Given the description of an element on the screen output the (x, y) to click on. 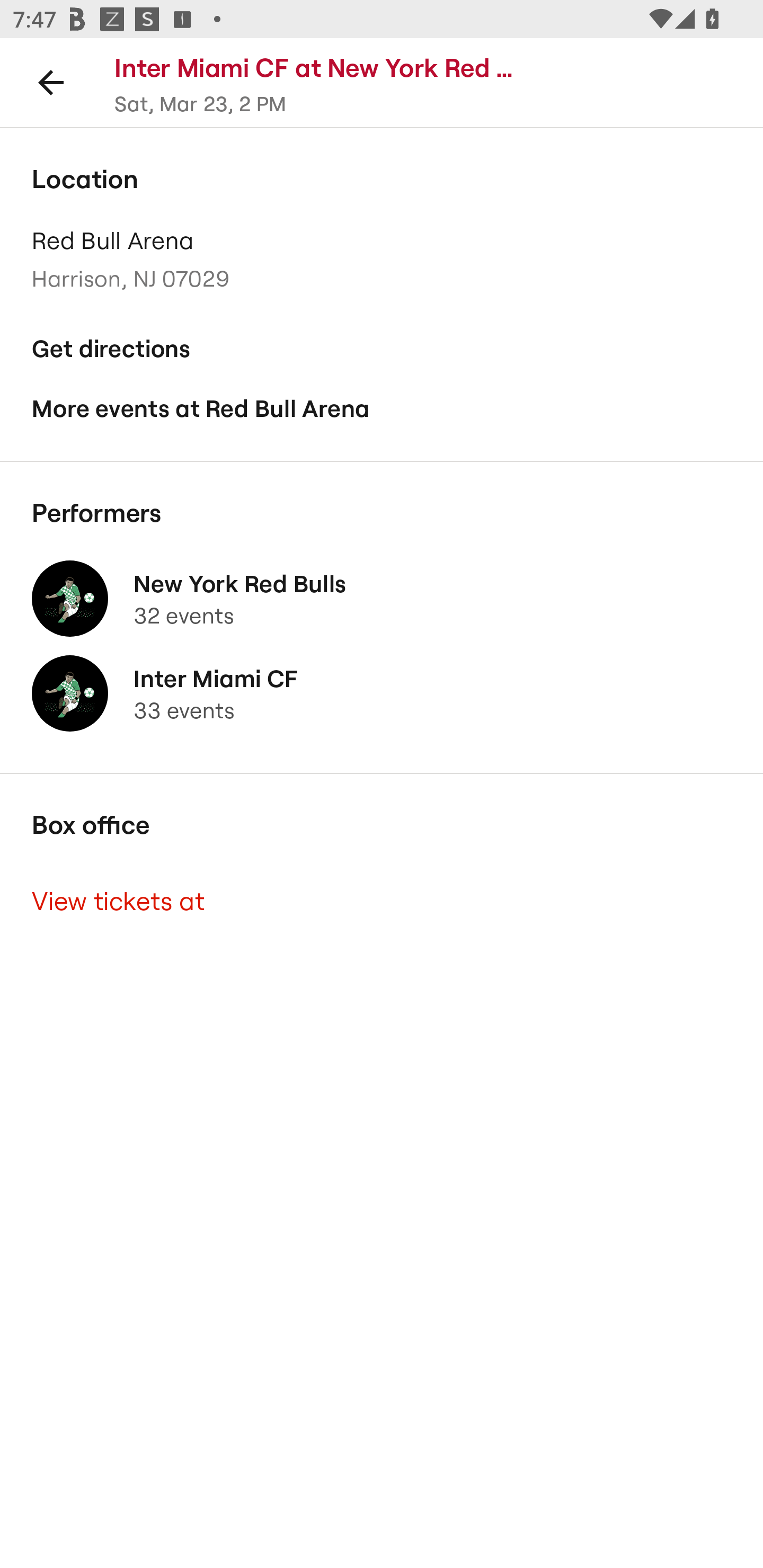
Back (50, 81)
Get directions (381, 348)
More events at Red Bull Arena (381, 409)
New York Red Bulls 32 events (381, 598)
Inter Miami CF 33 events (381, 693)
View tickets at  (381, 901)
